Given the description of an element on the screen output the (x, y) to click on. 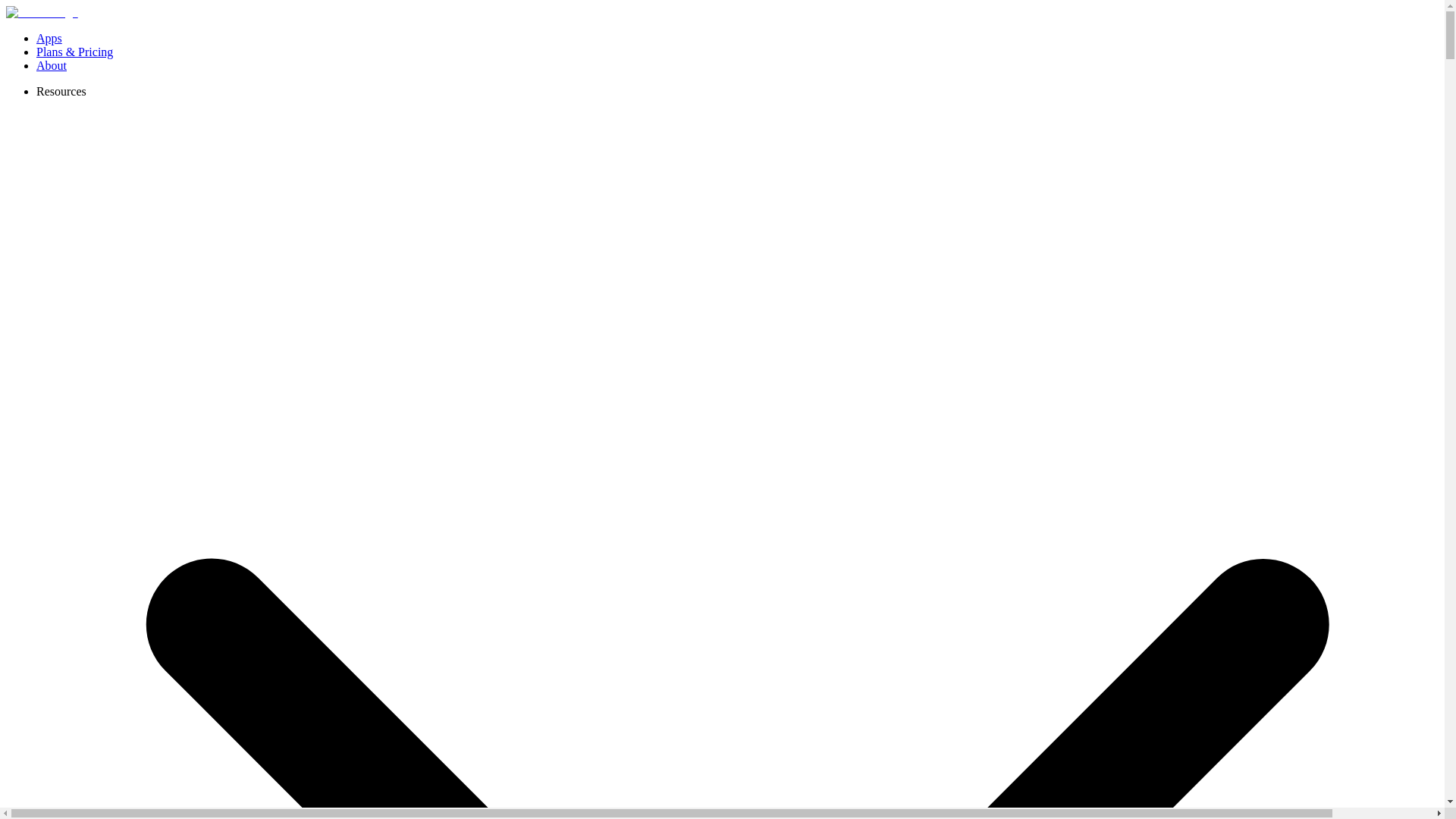
Apps (49, 38)
About (51, 65)
